Given the description of an element on the screen output the (x, y) to click on. 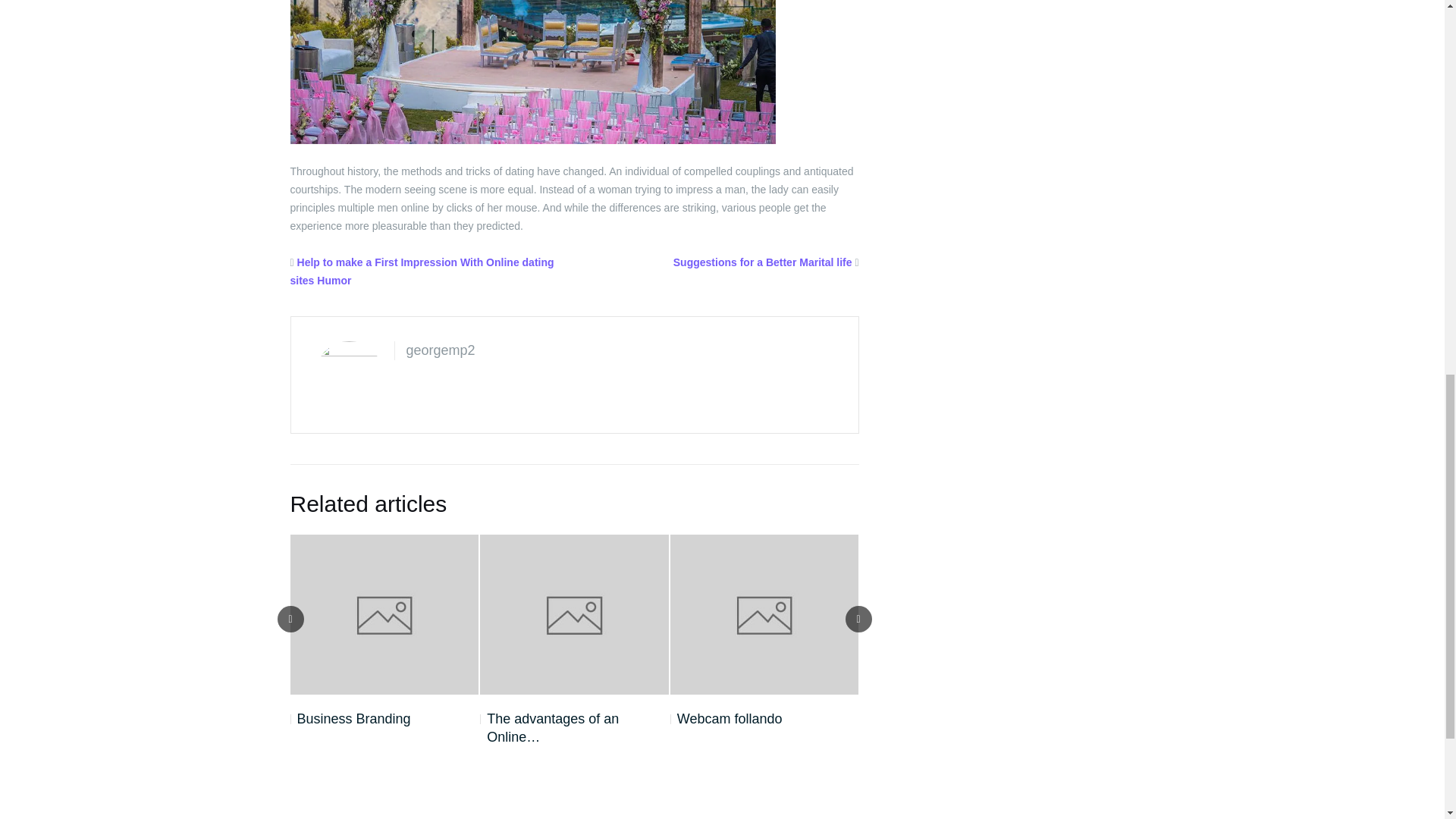
Business Branding (349, 719)
Webcam follando (726, 719)
Suggestions for a Better Marital life (761, 262)
